Given the description of an element on the screen output the (x, y) to click on. 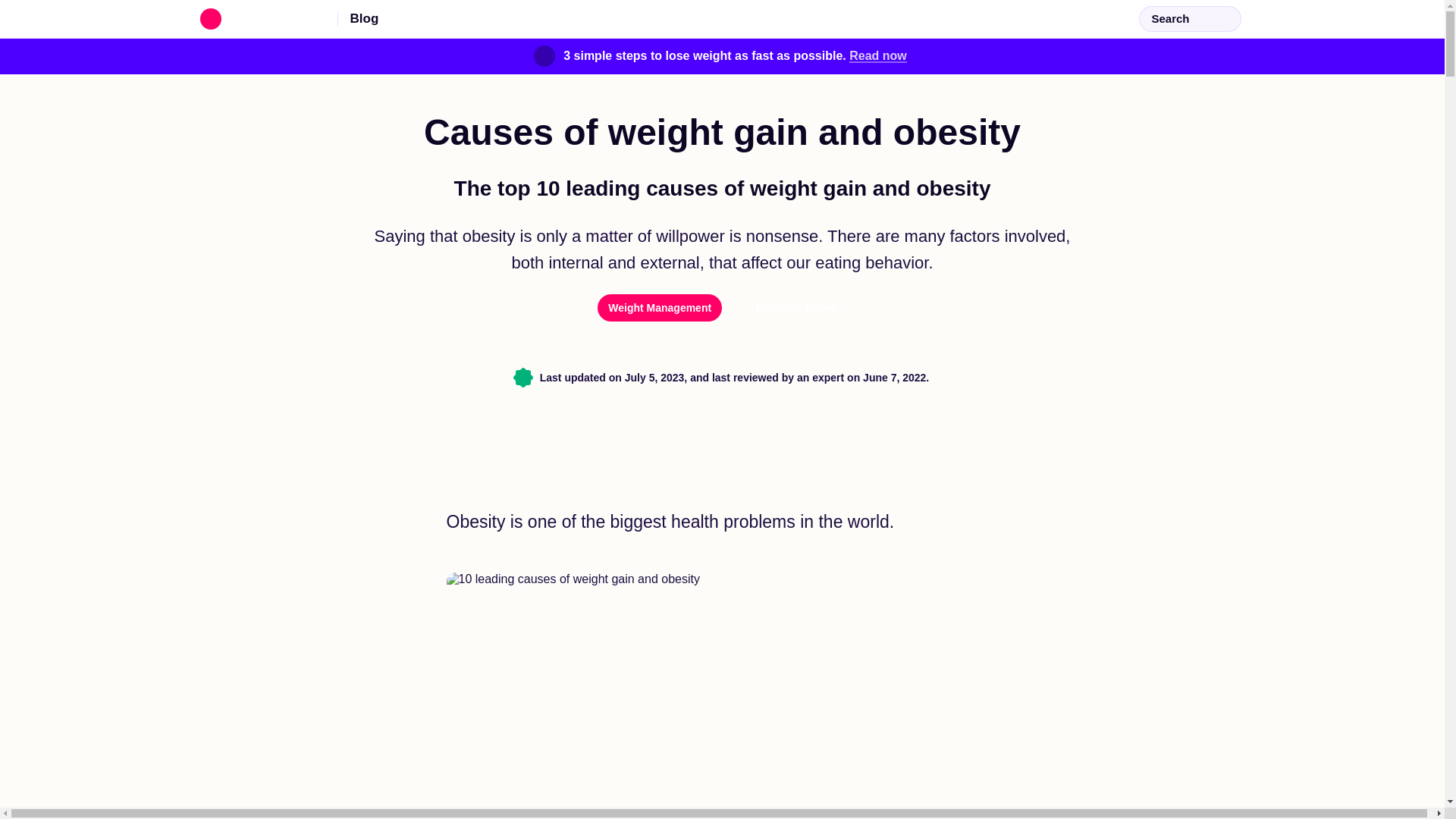
3 simple steps to lose weight as fast as possible. Read now (722, 55)
Weight Management (659, 307)
Blog (364, 18)
Search (1189, 18)
